Given the description of an element on the screen output the (x, y) to click on. 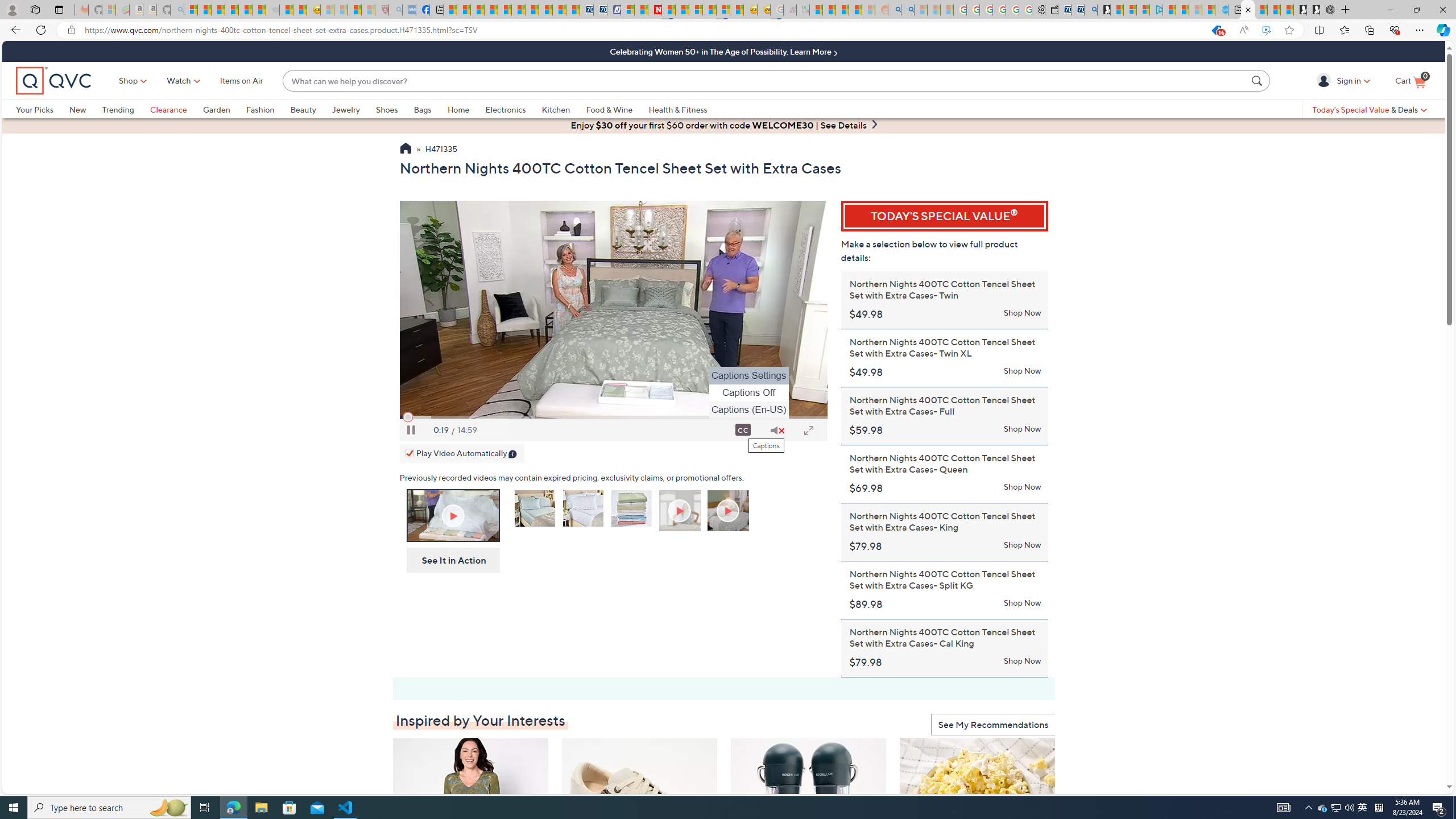
Kitchen (555, 109)
See My Recommendations (992, 724)
Garden (216, 109)
